Given the description of an element on the screen output the (x, y) to click on. 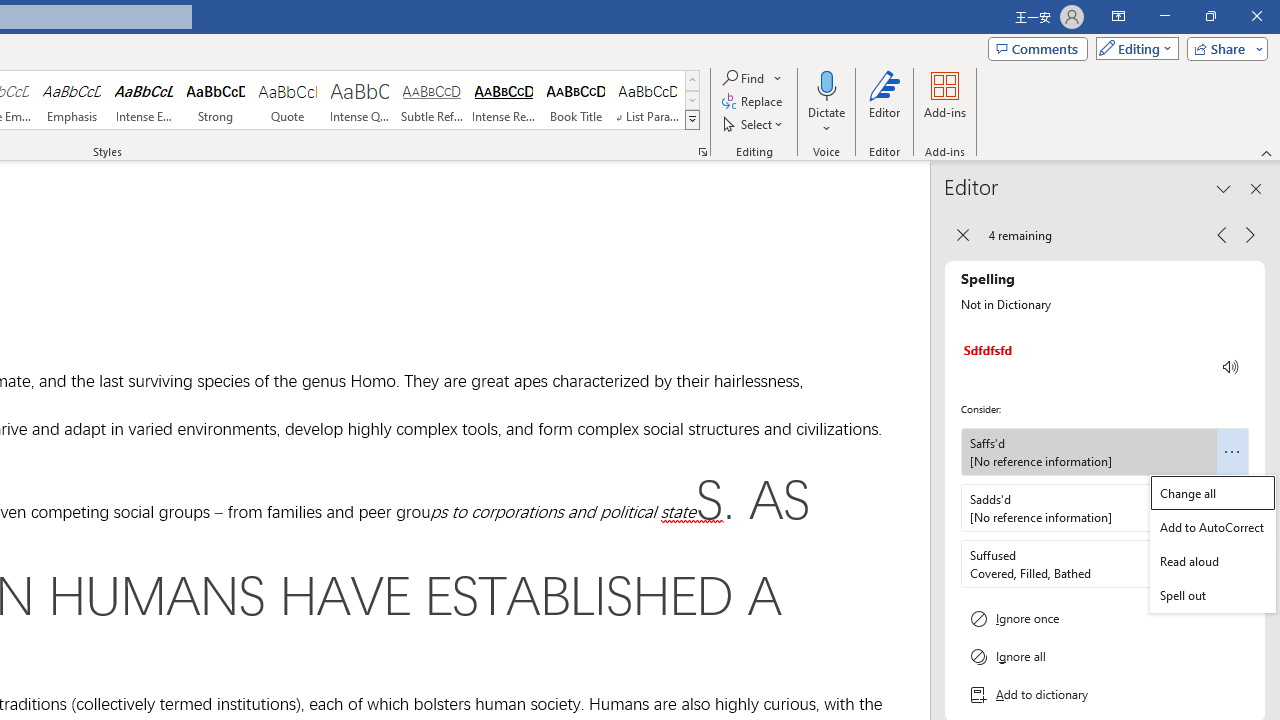
Strong (216, 100)
AutomationID: DrillInPane_ReadContext (1231, 367)
Previous Issue, 4 remaining (1221, 234)
Class: Net UI Tool Window (1212, 543)
Intense Quote (359, 100)
Next Issue, 4 remaining (1250, 234)
Add to AutoCorrect (1212, 526)
